Given the description of an element on the screen output the (x, y) to click on. 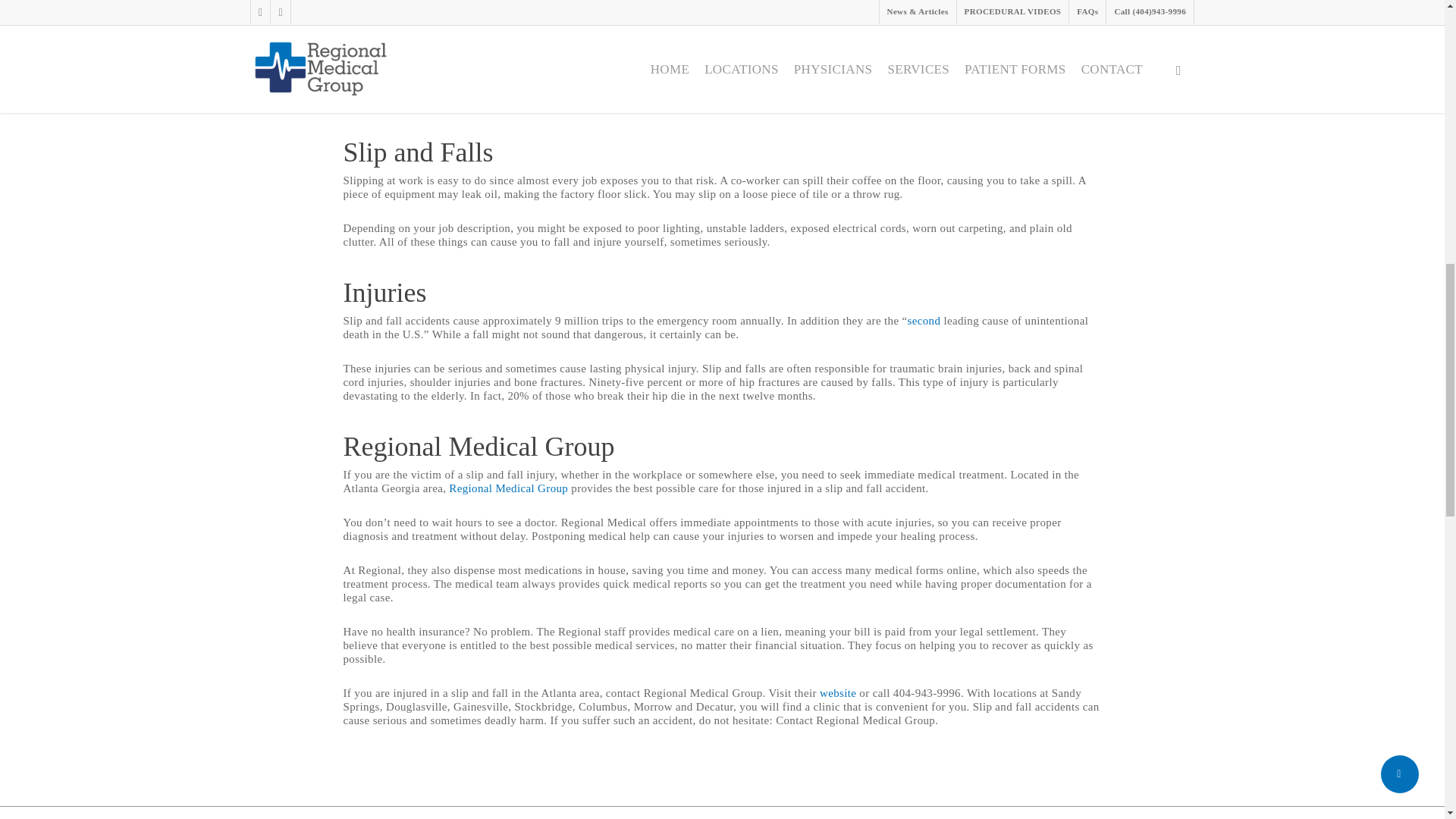
Regional Medical Group (507, 488)
website (837, 693)
second (923, 320)
